Given the description of an element on the screen output the (x, y) to click on. 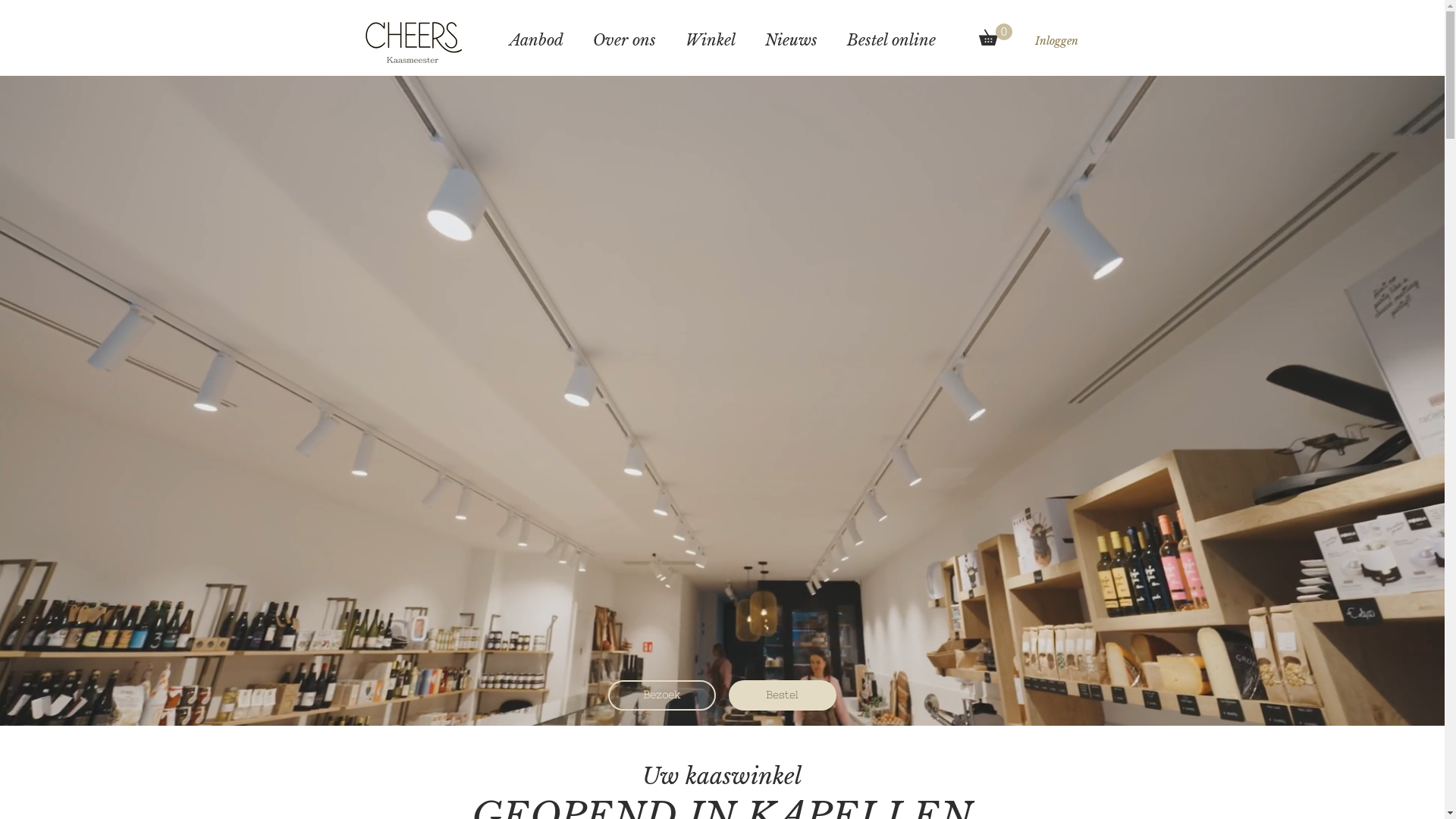
Nieuws Element type: text (791, 40)
Aanbod Element type: text (536, 40)
Over ons Element type: text (623, 40)
Winkel Element type: text (709, 40)
Bestel Element type: text (781, 695)
Inloggen Element type: text (1055, 41)
Bezoek Element type: text (661, 695)
0 Element type: text (994, 34)
Cheers- Woordmerk_Black - RGB - PNG_300ppi.png Element type: hover (413, 40)
Bestel online Element type: text (891, 40)
